Given the description of an element on the screen output the (x, y) to click on. 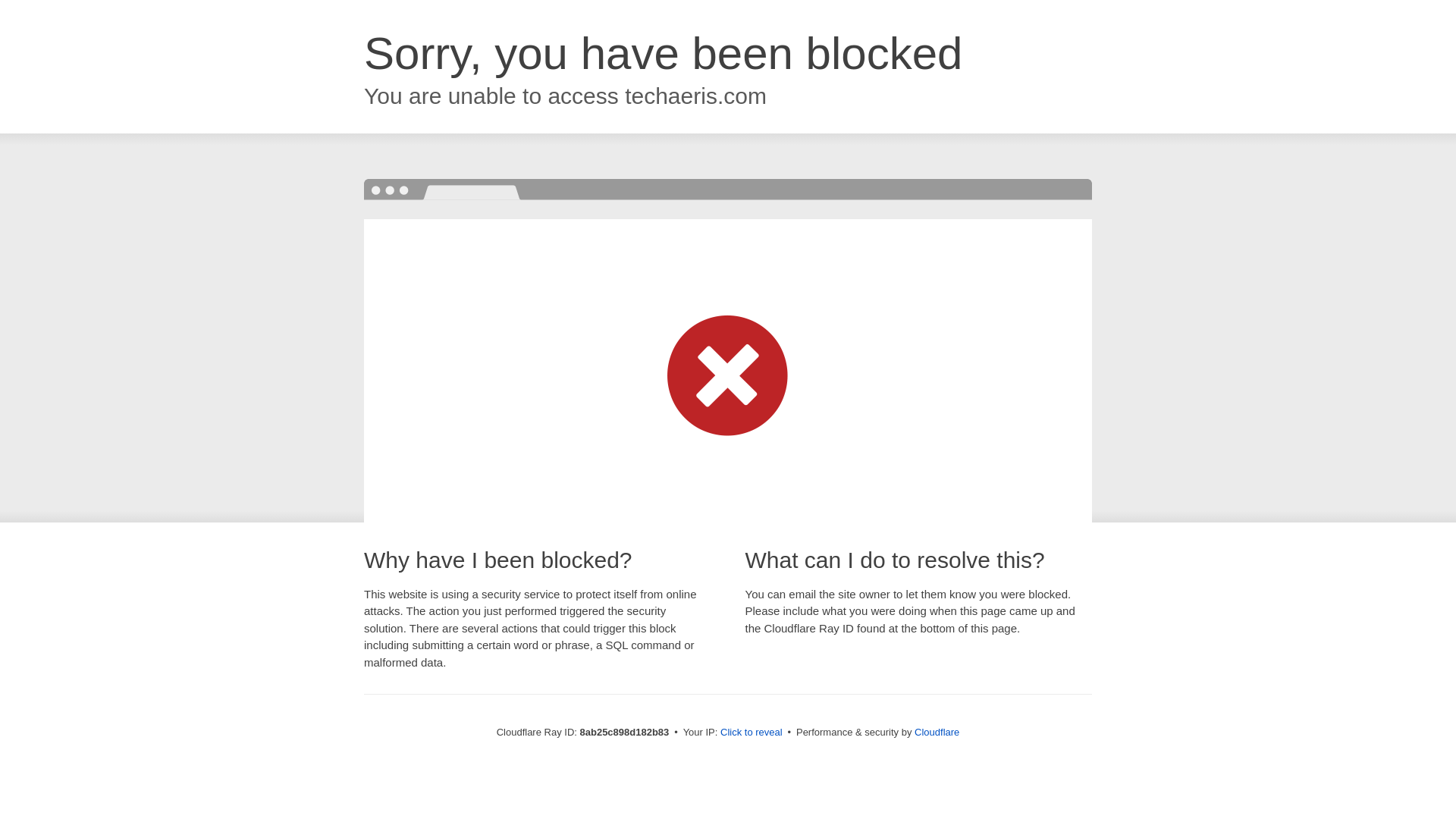
Cloudflare (936, 731)
Click to reveal (751, 732)
